Given the description of an element on the screen output the (x, y) to click on. 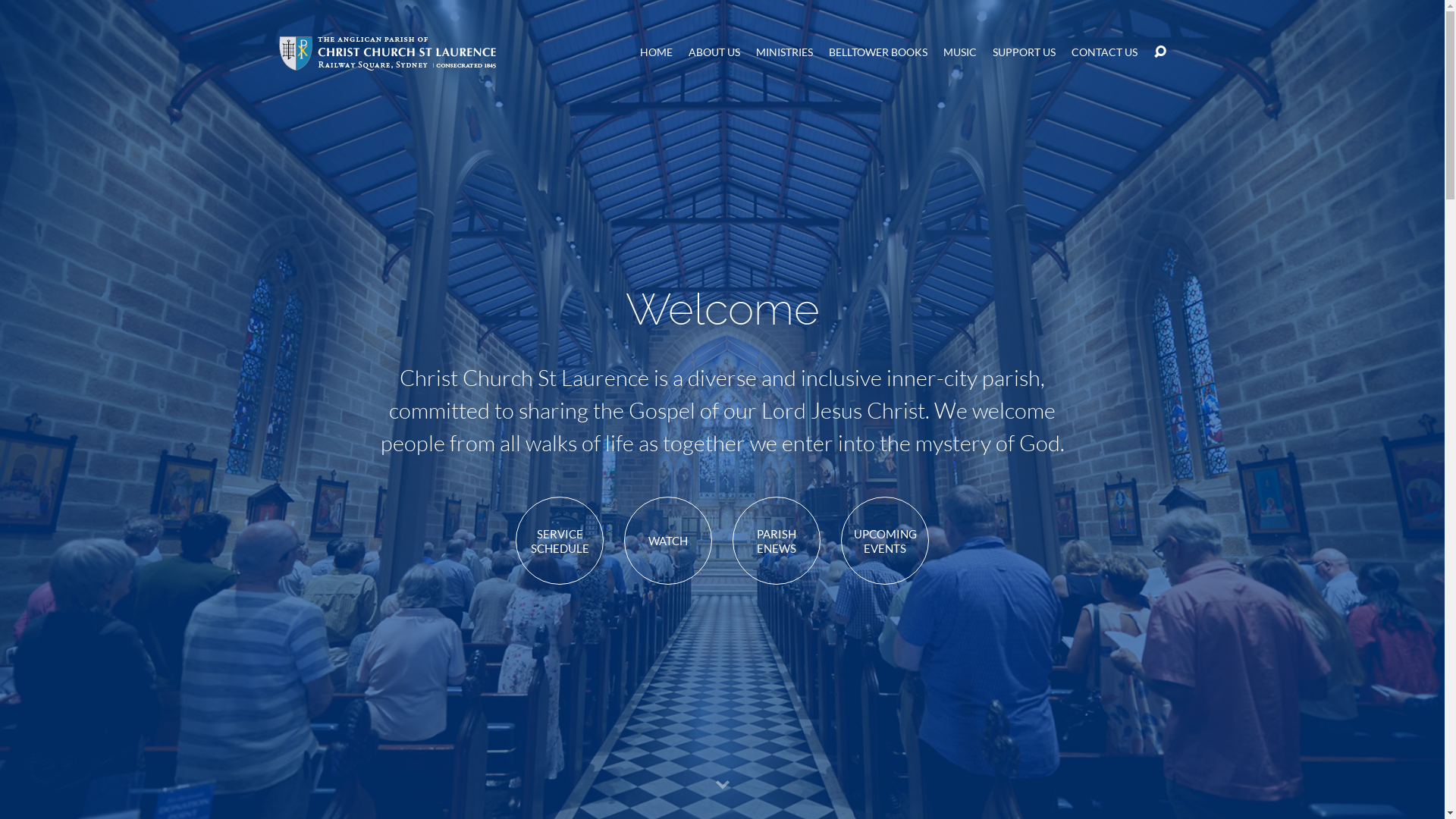
ABOUT US Element type: text (714, 52)
Scroll Down Element type: hover (722, 785)
UPCOMING EVENTS Element type: text (884, 540)
HOME Element type: text (656, 52)
SERVICE SCHEDULE Element type: text (559, 540)
MUSIC Element type: text (959, 52)
PARISH ENEWS Element type: text (776, 540)
WATCH Element type: text (668, 540)
CONTACT US Element type: text (1104, 52)
MINISTRIES Element type: text (784, 52)
SUPPORT US Element type: text (1023, 52)
BELLTOWER BOOKS Element type: text (877, 52)
